Given the description of an element on the screen output the (x, y) to click on. 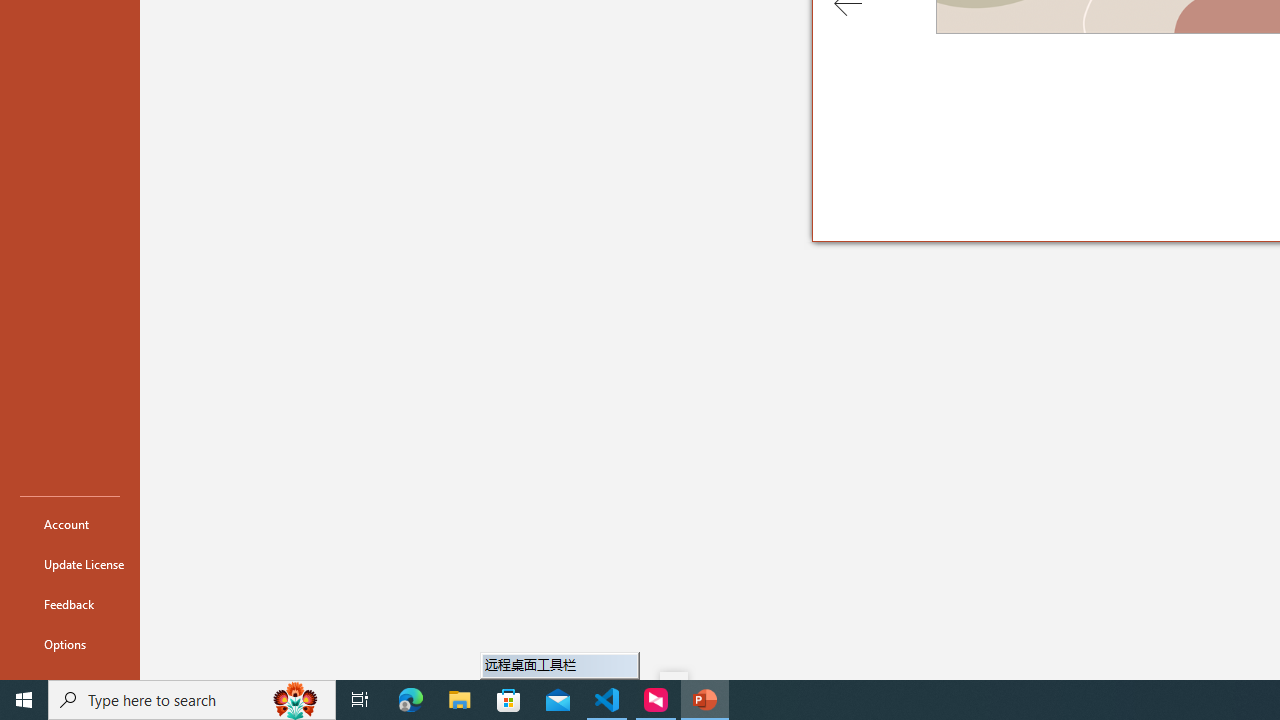
Account (69, 523)
Update License (69, 563)
Feedback (69, 603)
Options (69, 643)
